Given the description of an element on the screen output the (x, y) to click on. 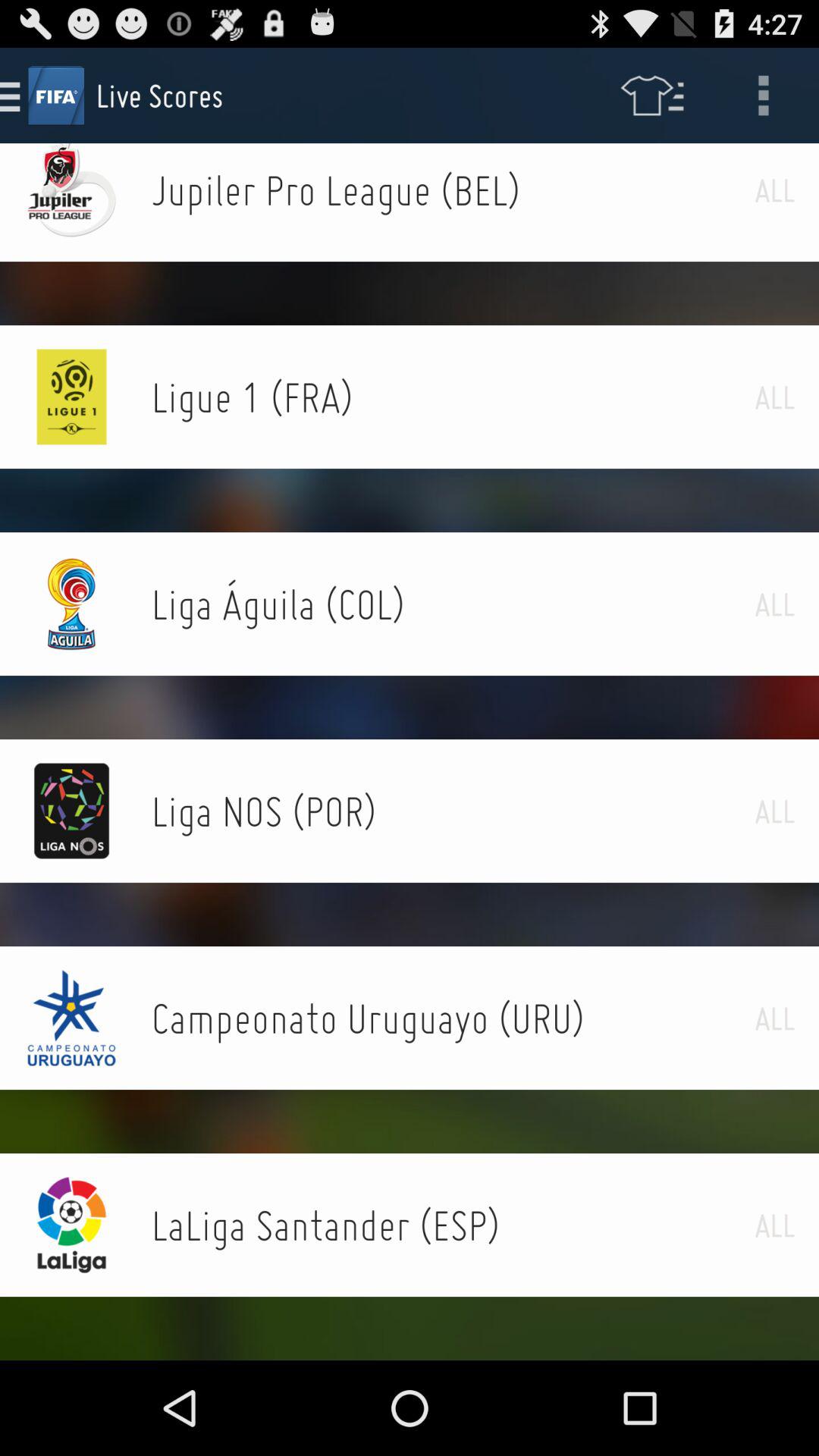
select the icon to the left of the all (452, 189)
